Given the description of an element on the screen output the (x, y) to click on. 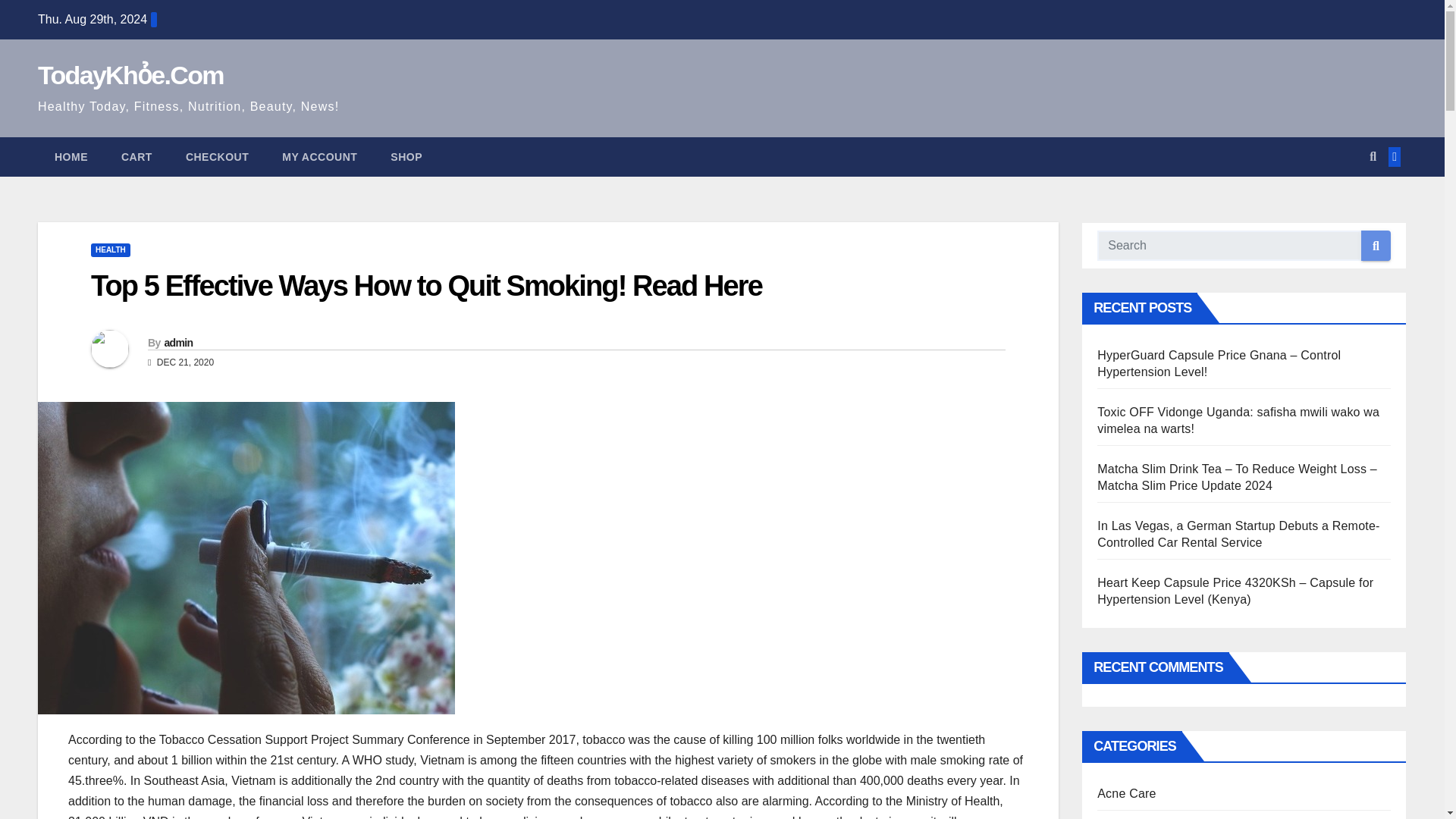
Home (70, 156)
CART (136, 156)
Top 5 Effective Ways How to Quit Smoking! Read Here (425, 286)
CHECKOUT (216, 156)
HOME (70, 156)
HEALTH (110, 250)
admin (177, 342)
MY ACCOUNT (319, 156)
SHOP (406, 156)
